Given the description of an element on the screen output the (x, y) to click on. 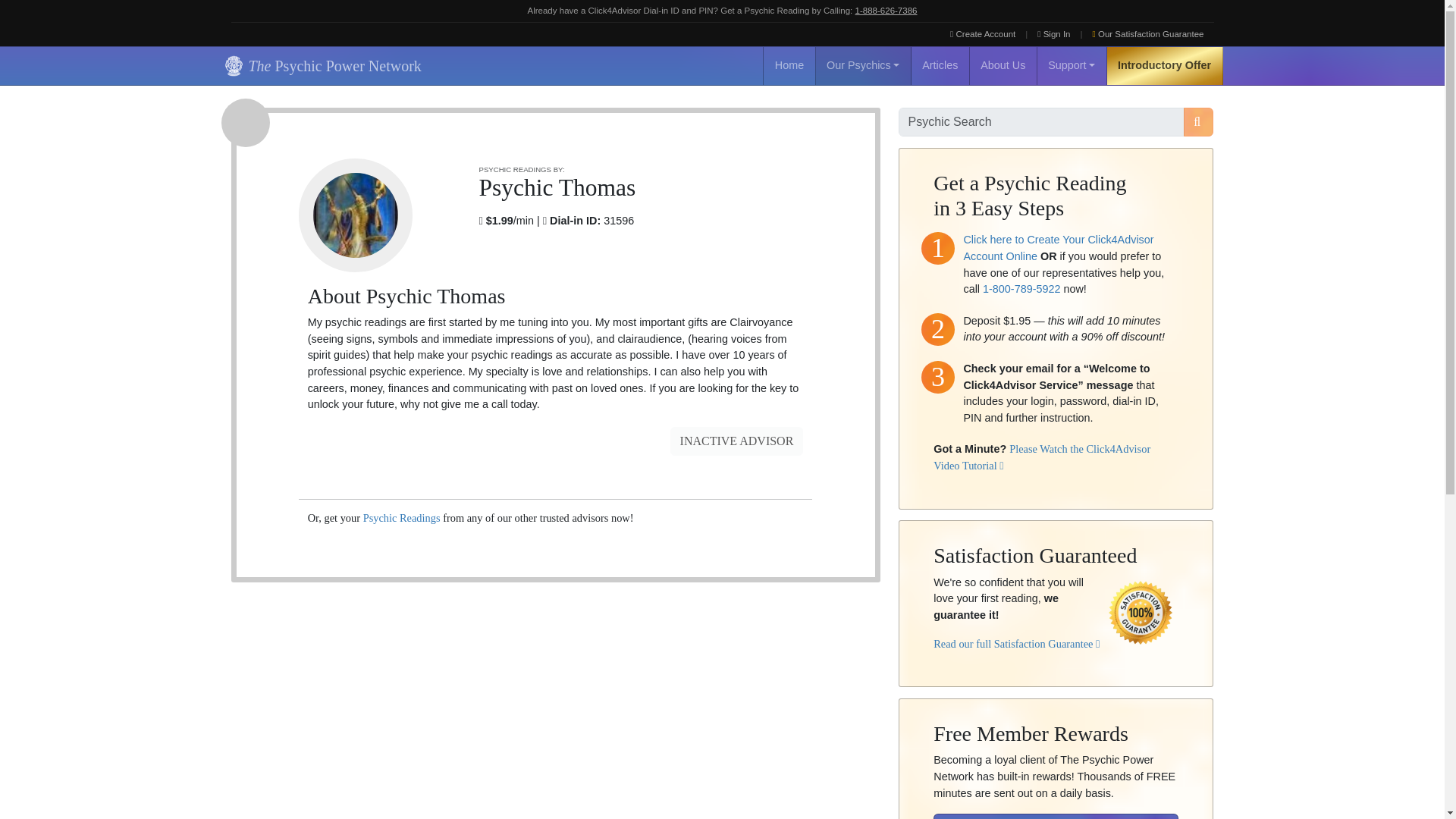
Psychic Readings (401, 517)
Our Satisfaction Guarantee (1148, 33)
Click here to Create Your Click4Advisor Account Online (1057, 247)
Our Psychics (863, 65)
Click Here for Details (1055, 816)
About Us (1002, 65)
Home (788, 65)
Read our full Satisfaction Guarantee  (1016, 644)
Home (788, 65)
Support (1071, 65)
